Given the description of an element on the screen output the (x, y) to click on. 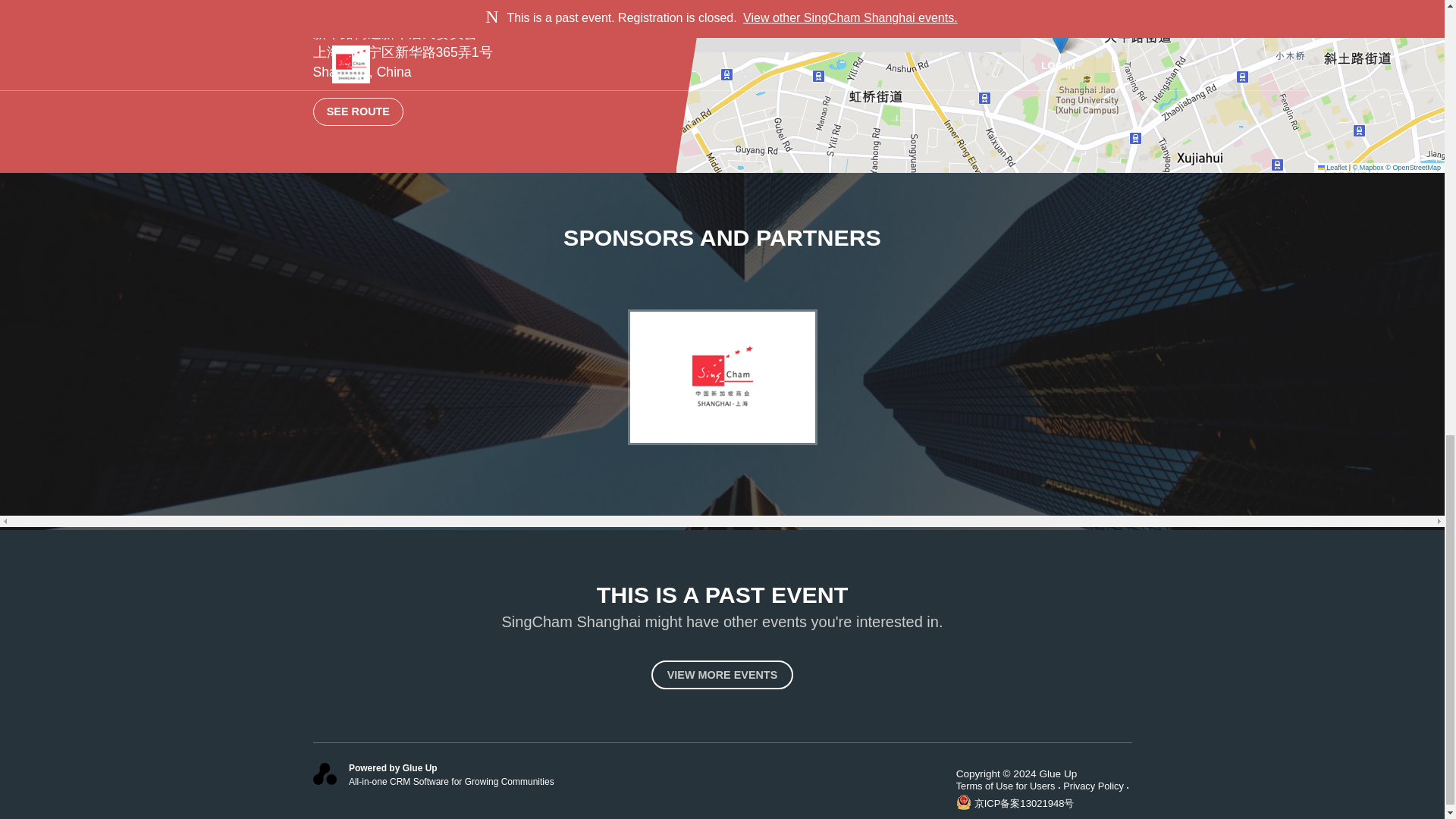
Leaflet (1332, 167)
VIEW MORE EVENTS (721, 675)
Terms of Use for Users (1010, 785)
SEE ROUTE (358, 111)
Privacy Policy (1096, 785)
A JavaScript library for interactive maps (1332, 167)
